Given the description of an element on the screen output the (x, y) to click on. 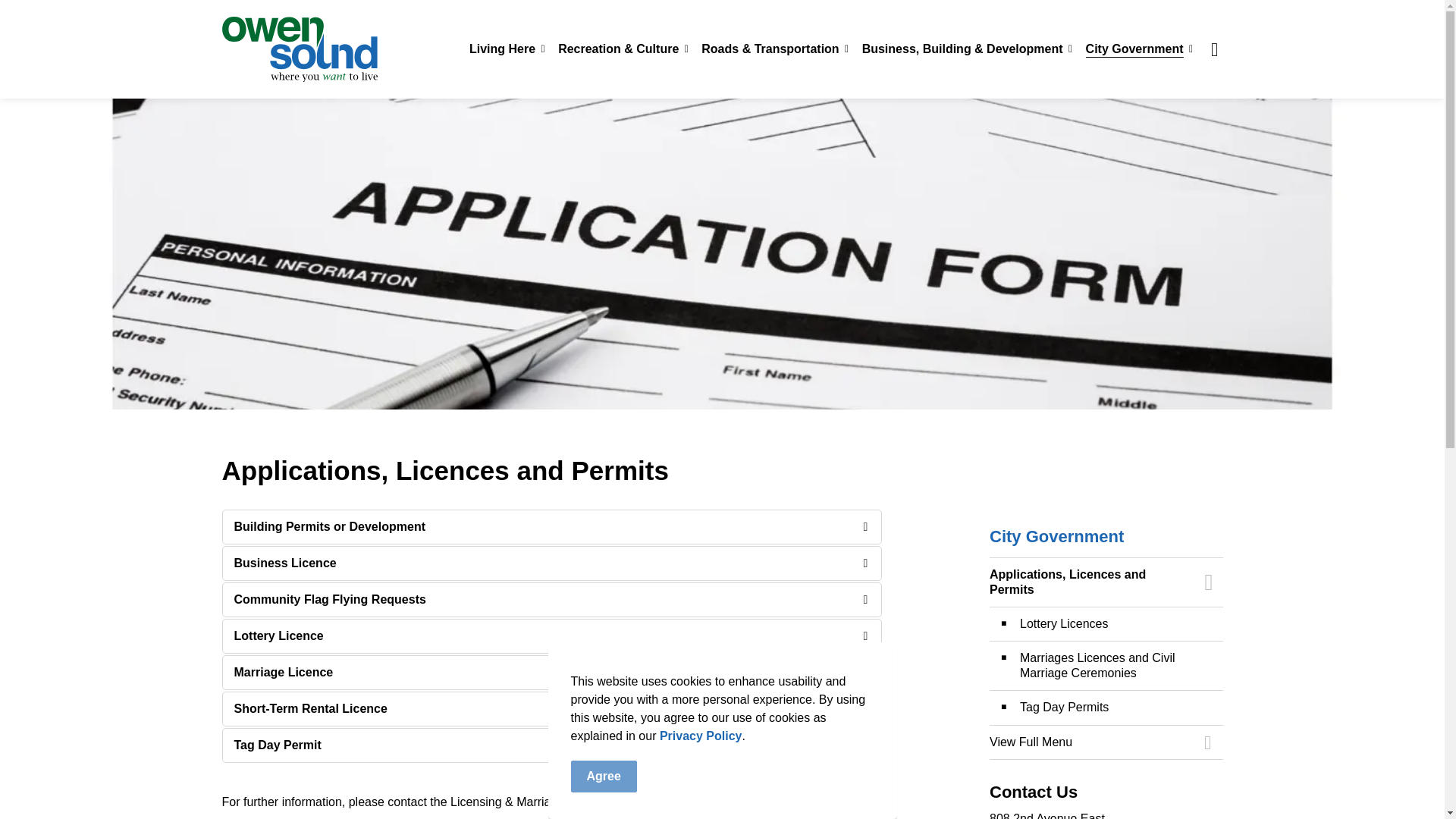
Living Here (505, 49)
City of Owen Sound (299, 48)
